Given the description of an element on the screen output the (x, y) to click on. 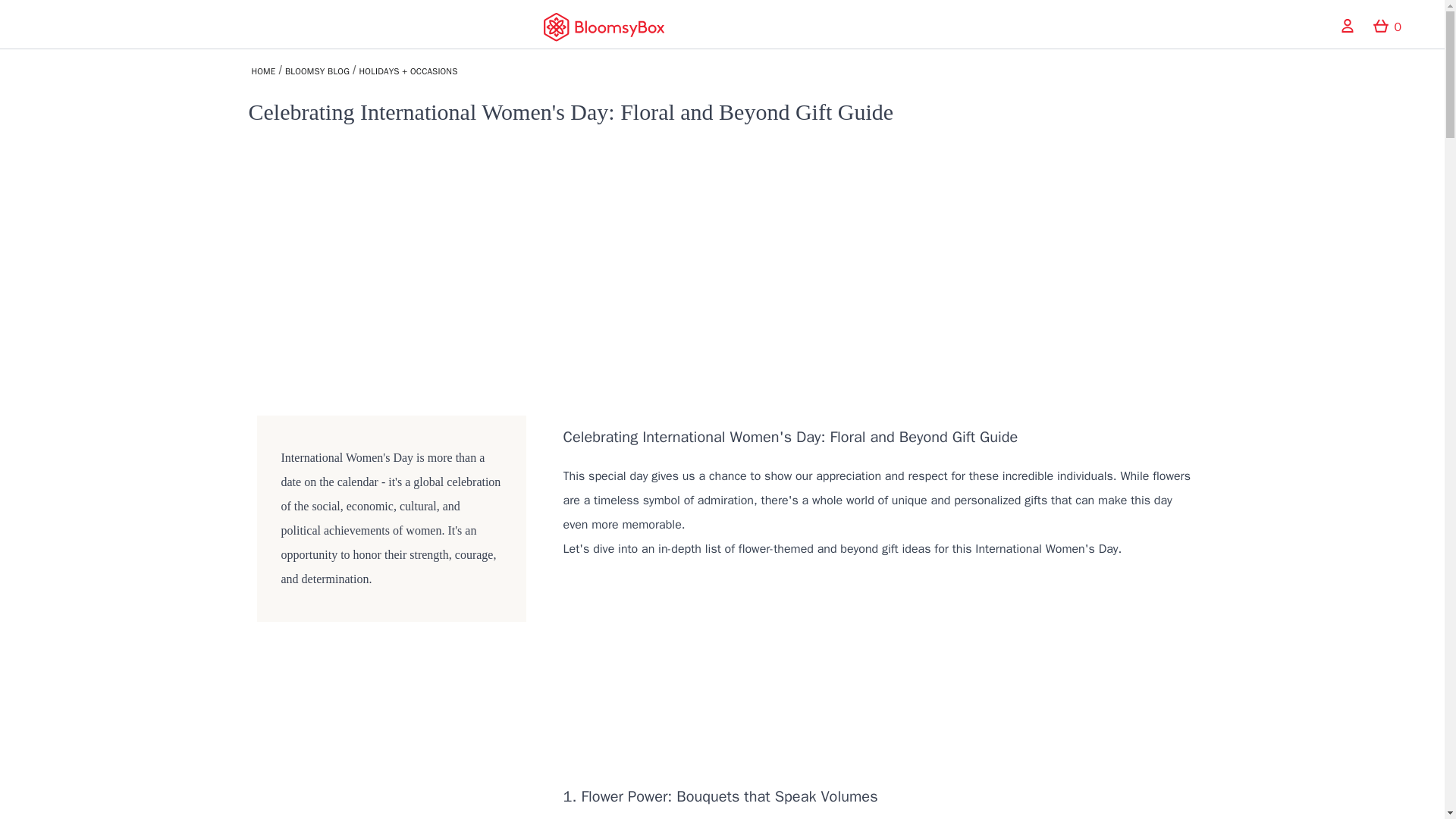
BLOOMSY BLOG (317, 71)
0 (1387, 26)
HOME (263, 71)
